Given the description of an element on the screen output the (x, y) to click on. 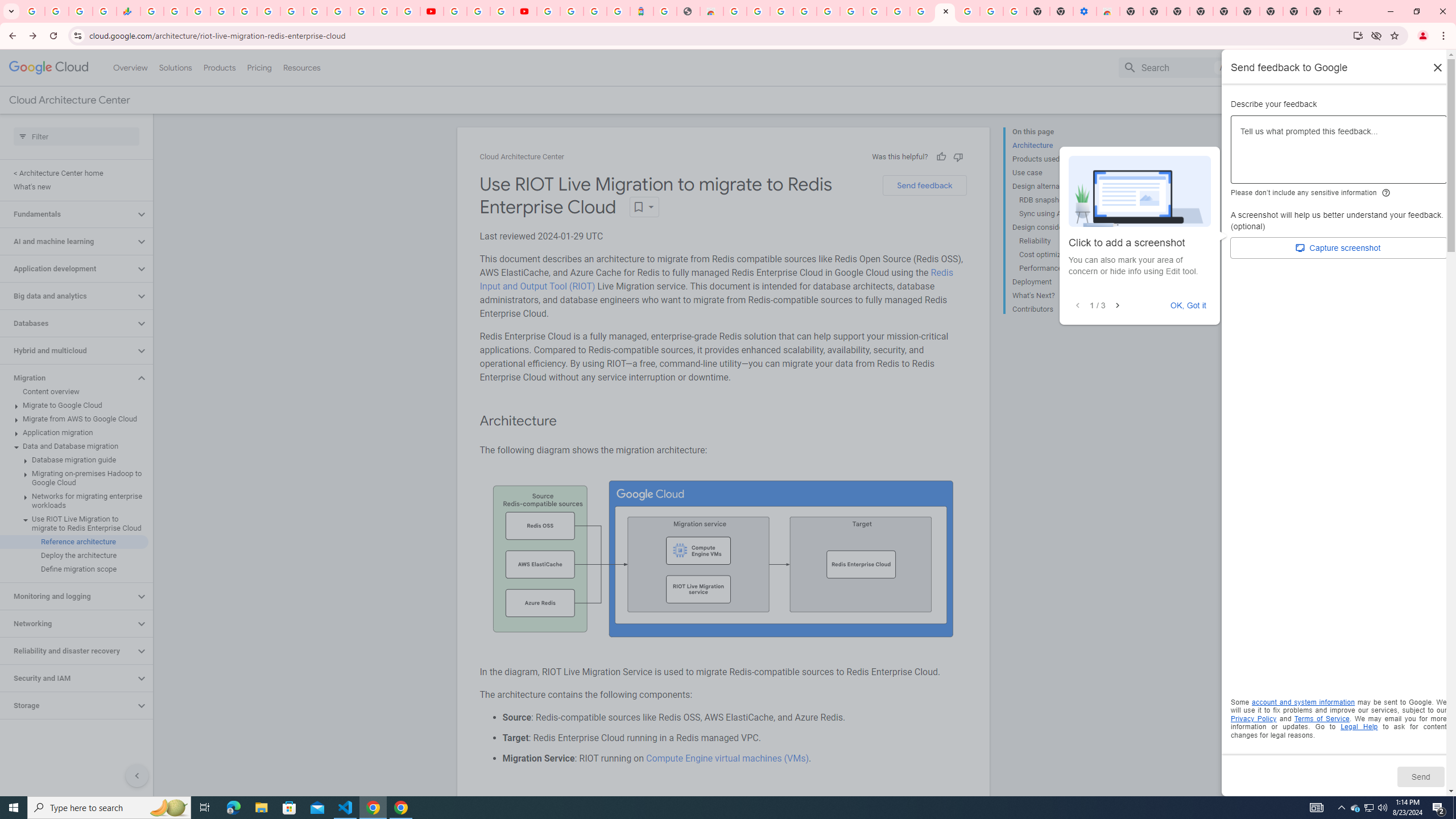
Support (1296, 67)
Send feedback (924, 185)
Android TV Policies and Guidelines - Transparency Center (291, 11)
Send (1420, 776)
Content overview (74, 391)
Previous (1077, 305)
Deployment (1058, 282)
Open dropdown (643, 206)
English (1359, 67)
< Architecture Center home (74, 173)
Copy link to this section: Architecture (567, 421)
Performance (1062, 268)
